Given the description of an element on the screen output the (x, y) to click on. 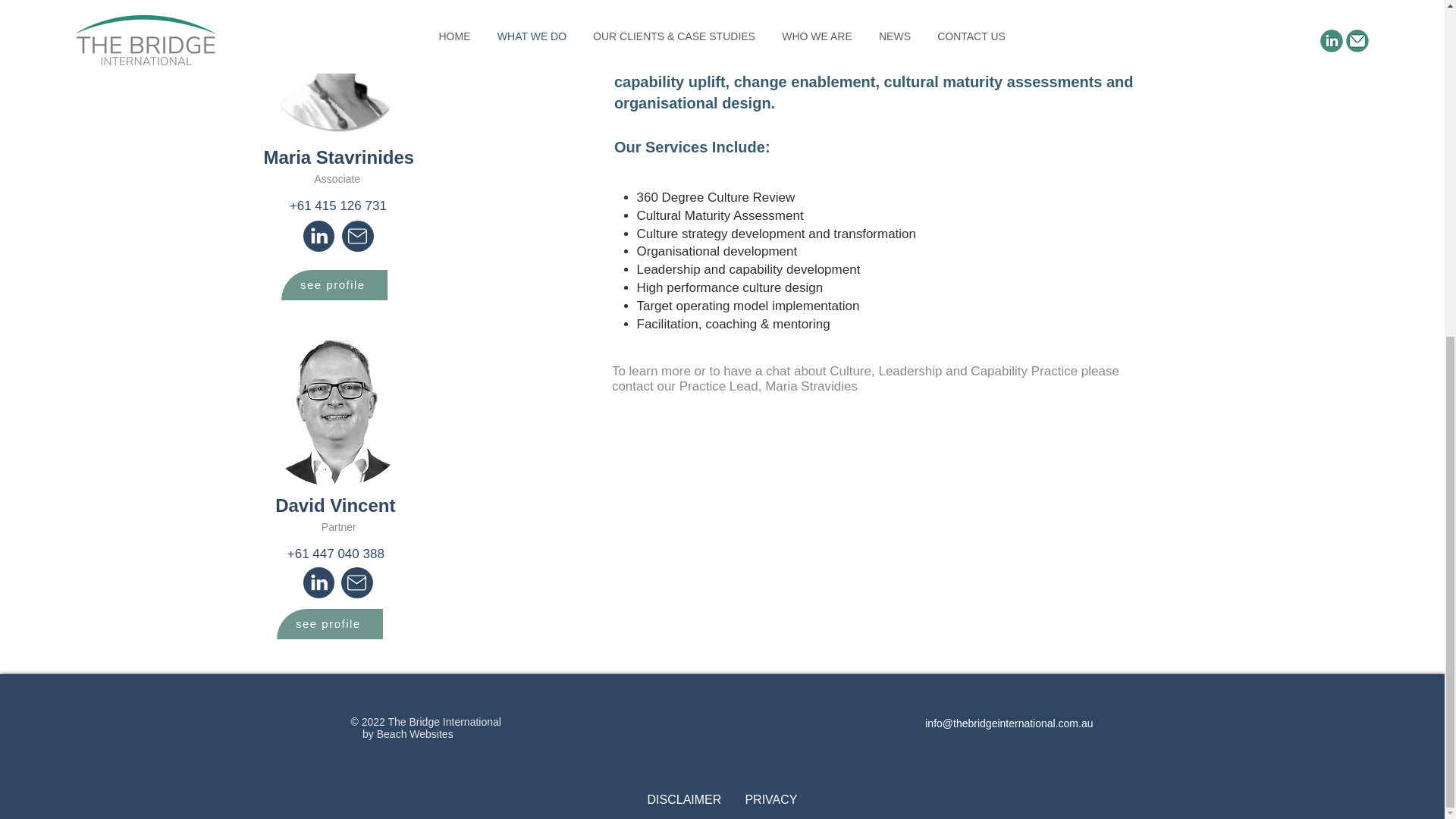
DISCLAIMER (686, 799)
see profile (329, 624)
 Websites (429, 734)
see profile (334, 285)
Embedded Content (731, 722)
